Given the description of an element on the screen output the (x, y) to click on. 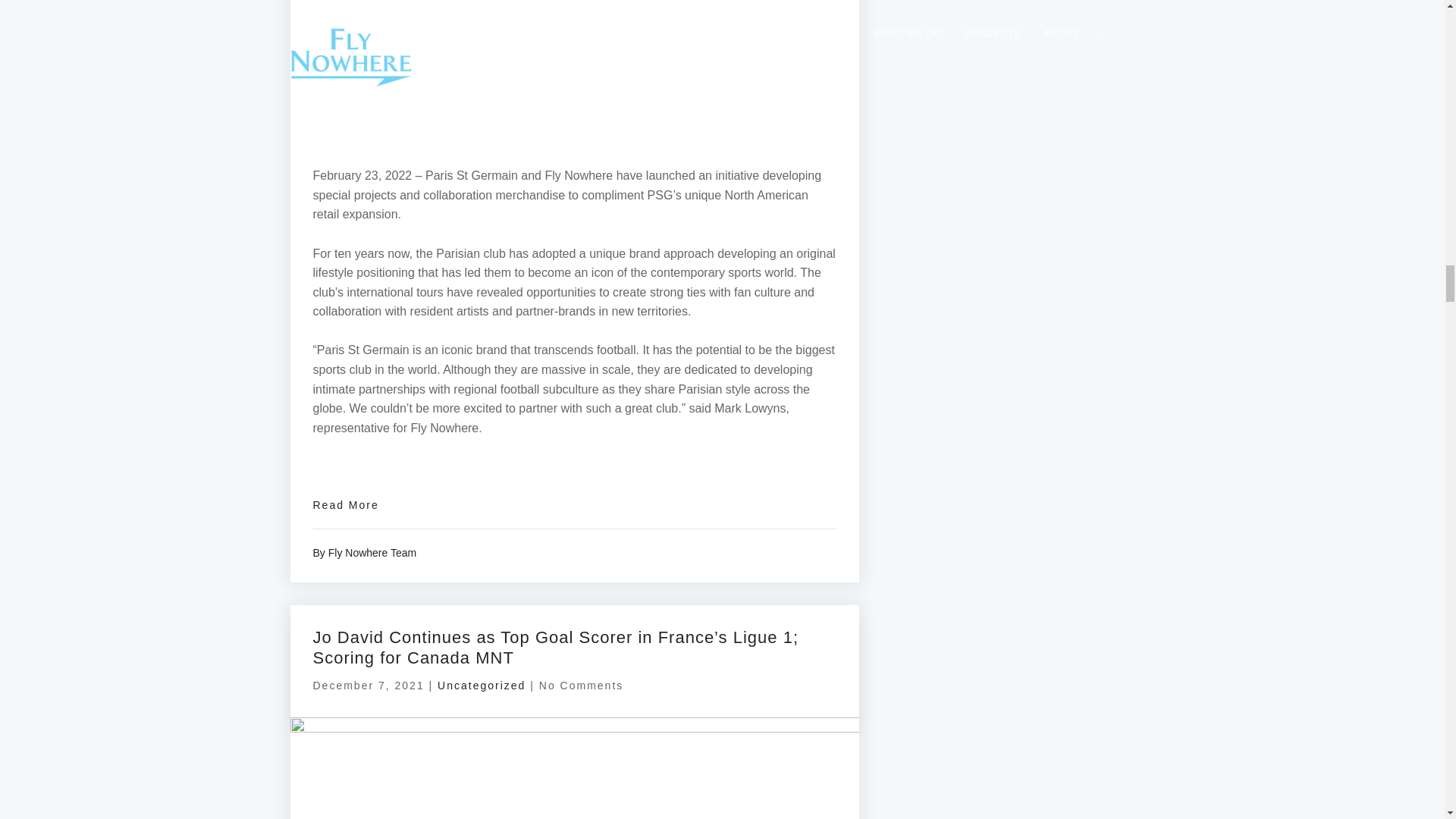
Feature image (574, 768)
Feature image (574, 65)
